Given the description of an element on the screen output the (x, y) to click on. 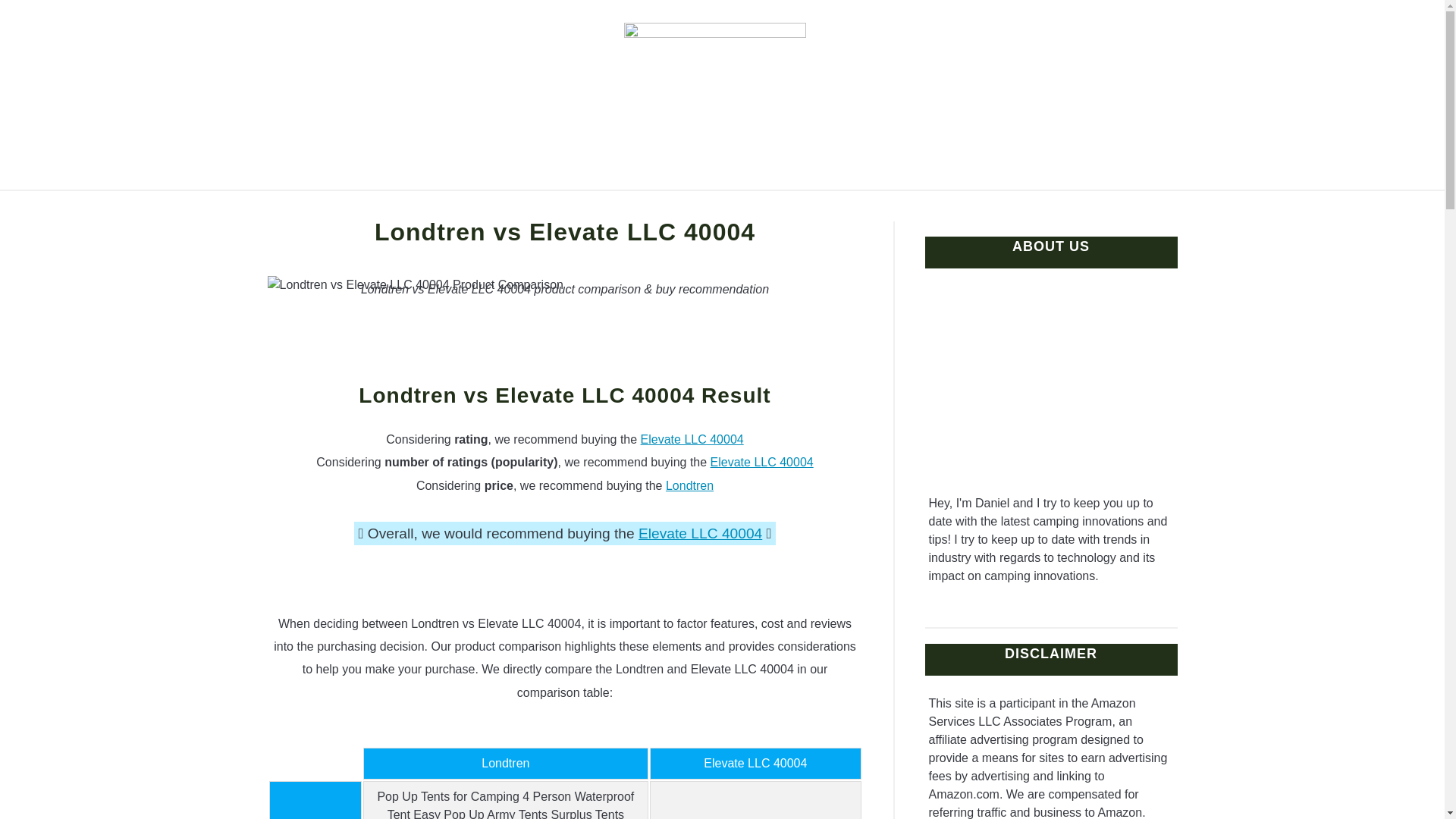
Elevate LLC 40004 (700, 533)
CAMPING TIPS (979, 208)
CAMPING QUESTIONS (826, 208)
Londtren (689, 485)
Search (1172, 94)
CAMPING INNOVATIONS (494, 208)
Elevate LLC 40004 (692, 439)
CAMPING ADVICE (663, 208)
Elevate LLC 40004 (761, 461)
